Given the description of an element on the screen output the (x, y) to click on. 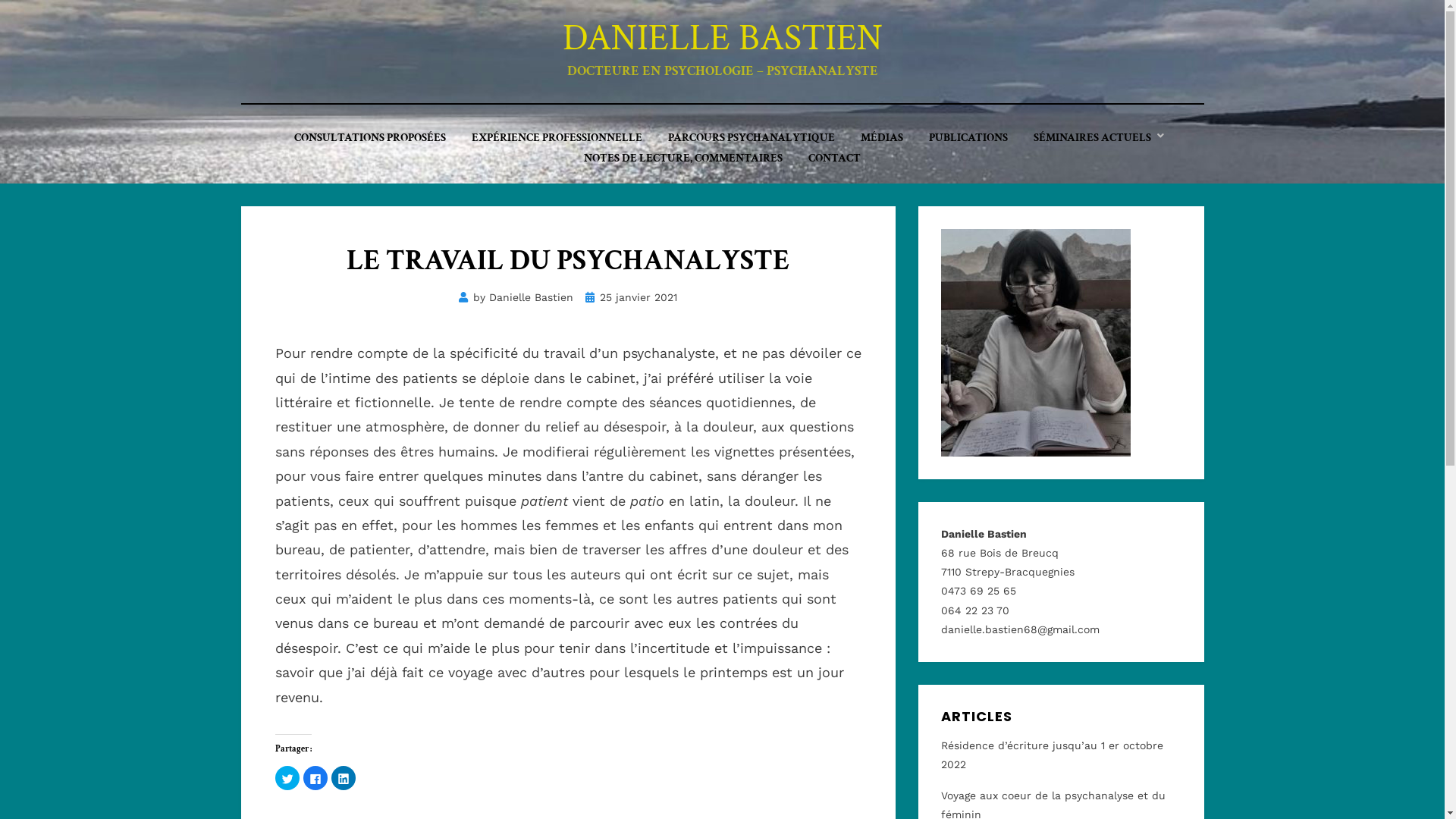
NOTES DE LECTURE, COMMENTAIRES Element type: text (683, 157)
CONTACT Element type: text (834, 157)
PARCOURS PSYCHANALYTIQUE Element type: text (751, 137)
PUBLICATIONS Element type: text (968, 137)
DANIELLE BASTIEN Element type: text (722, 38)
Danielle Bastien Element type: text (531, 297)
25 janvier 2021 Element type: text (631, 297)
